Given the description of an element on the screen output the (x, y) to click on. 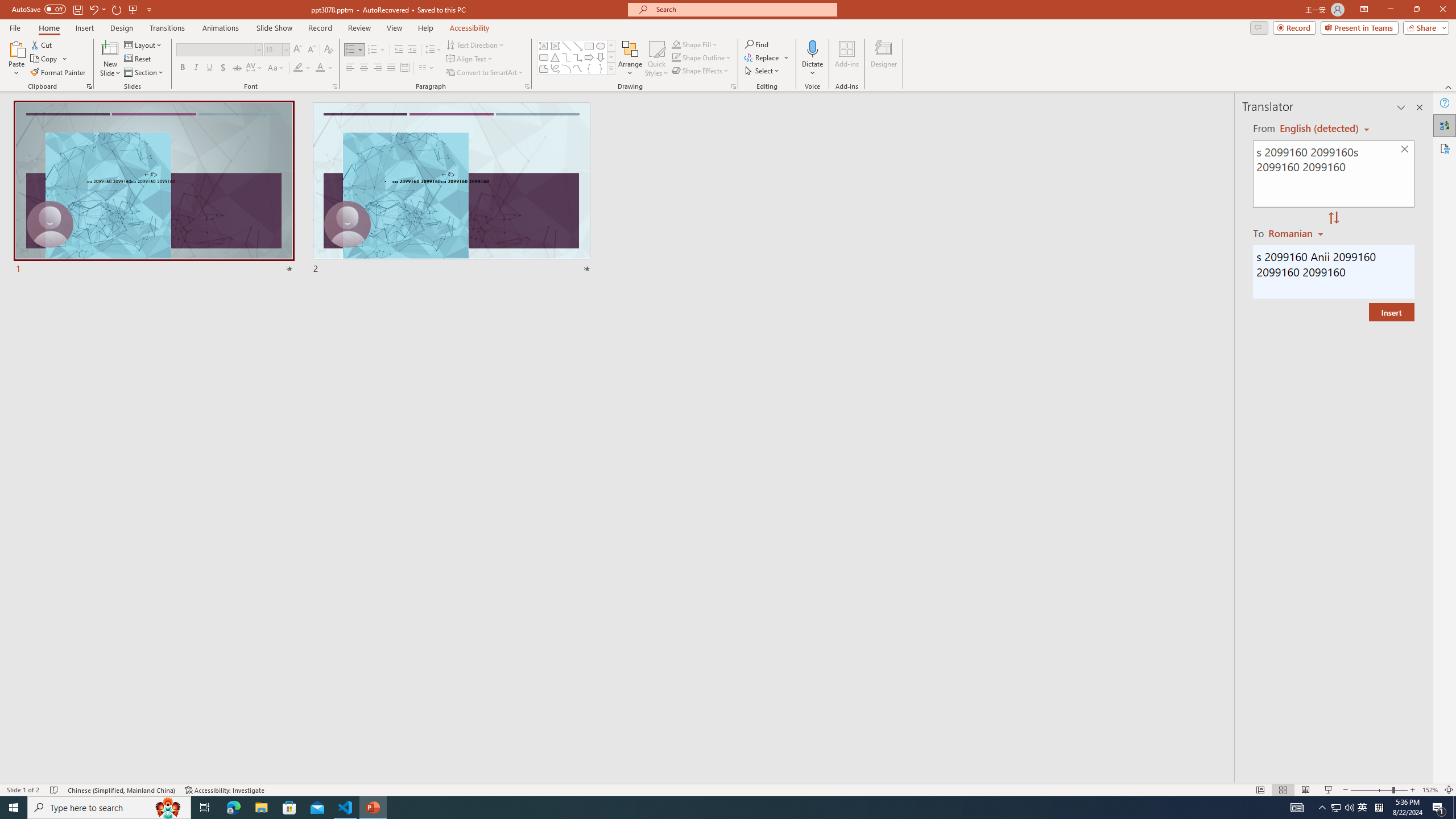
Zoom 152% (1430, 790)
